Given the description of an element on the screen output the (x, y) to click on. 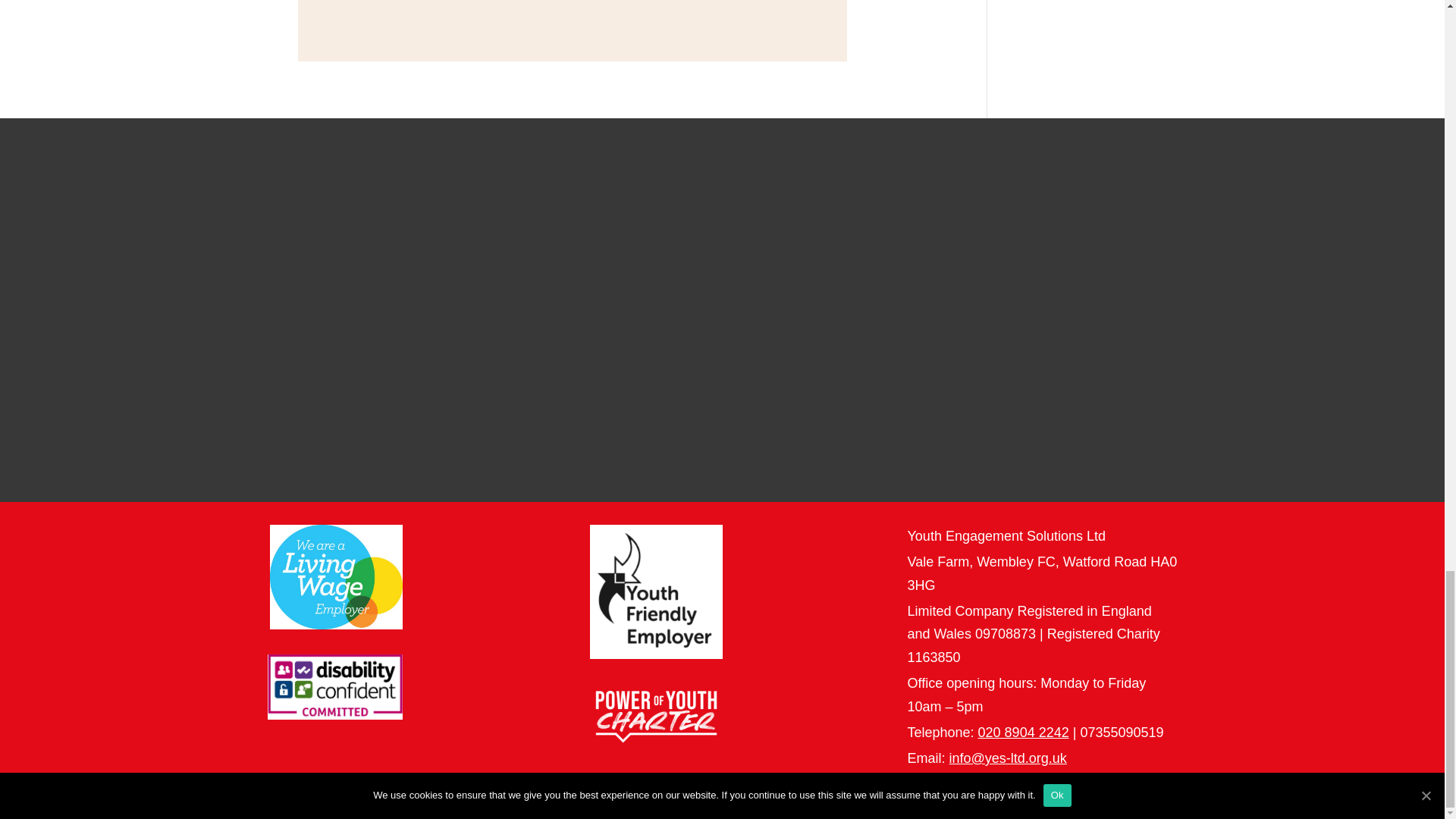
Disability Confident (333, 686)
Youth Friendly Employer (655, 591)
